Given the description of an element on the screen output the (x, y) to click on. 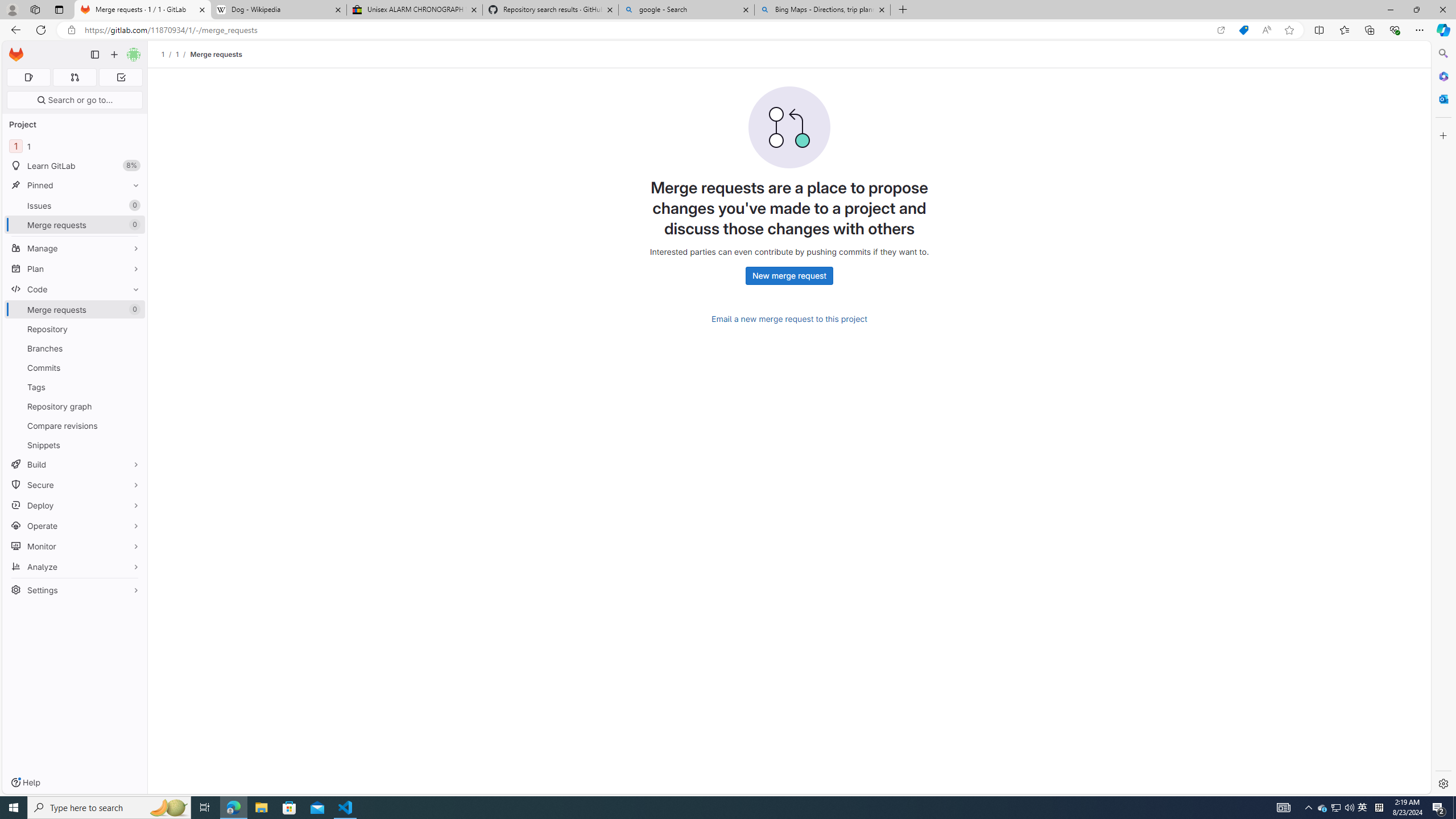
Branches (74, 348)
Merge requests (215, 53)
Dog - Wikipedia (277, 9)
Manage (74, 248)
Manage (74, 248)
Tags (74, 386)
Skip to main content (13, 49)
Snippets (74, 444)
Merge requests 0 (74, 309)
Create new... (113, 54)
Analyze (74, 566)
Help (25, 782)
